Given the description of an element on the screen output the (x, y) to click on. 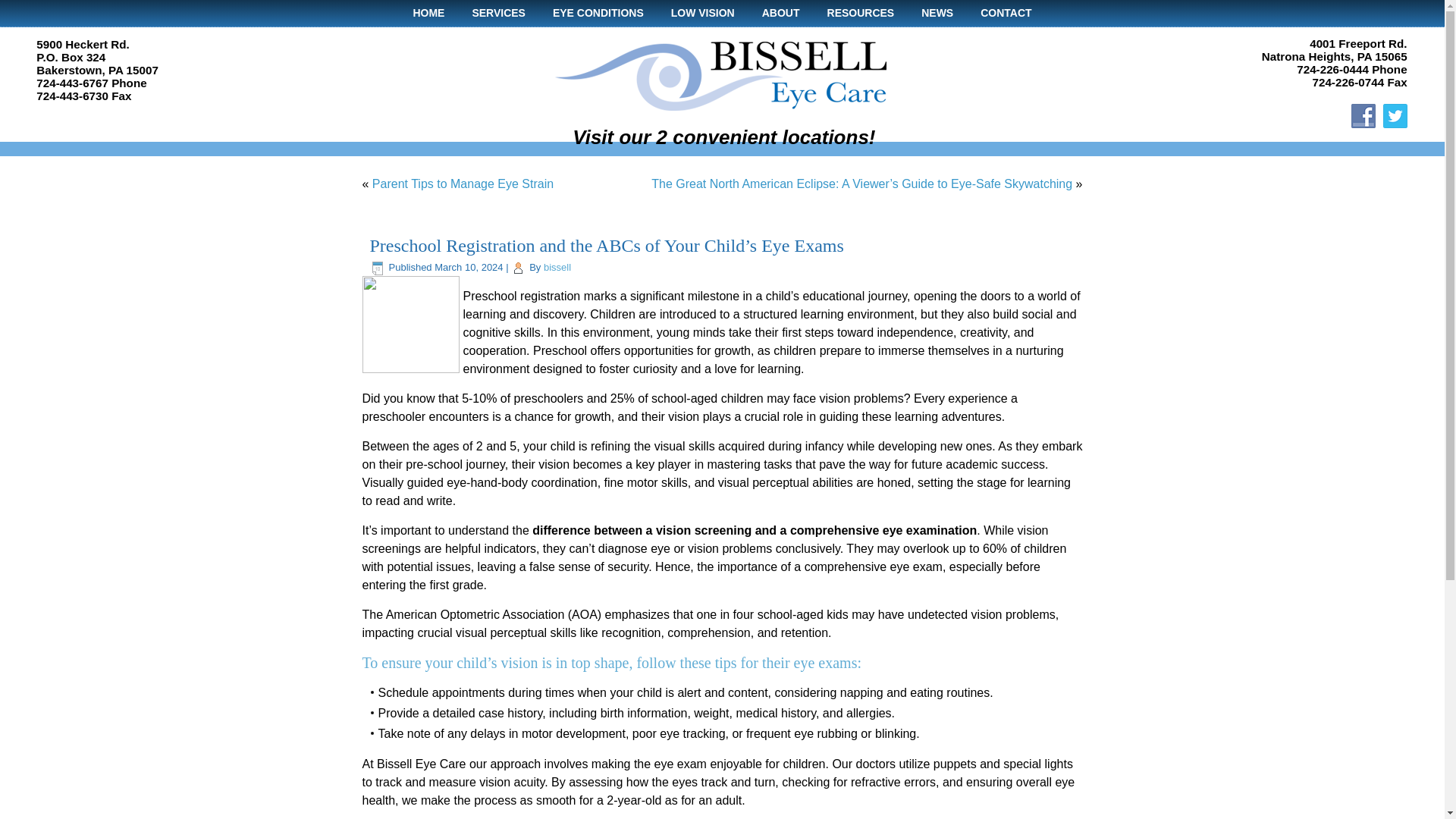
NEWS (936, 13)
RESOURCES (860, 13)
EYE CONDITIONS (598, 13)
LOW VISION (703, 13)
Home (428, 13)
Services (498, 13)
ABOUT (780, 13)
HOME (428, 13)
CONTACT (1005, 13)
SERVICES (498, 13)
Eye Conditions (598, 13)
